Given the description of an element on the screen output the (x, y) to click on. 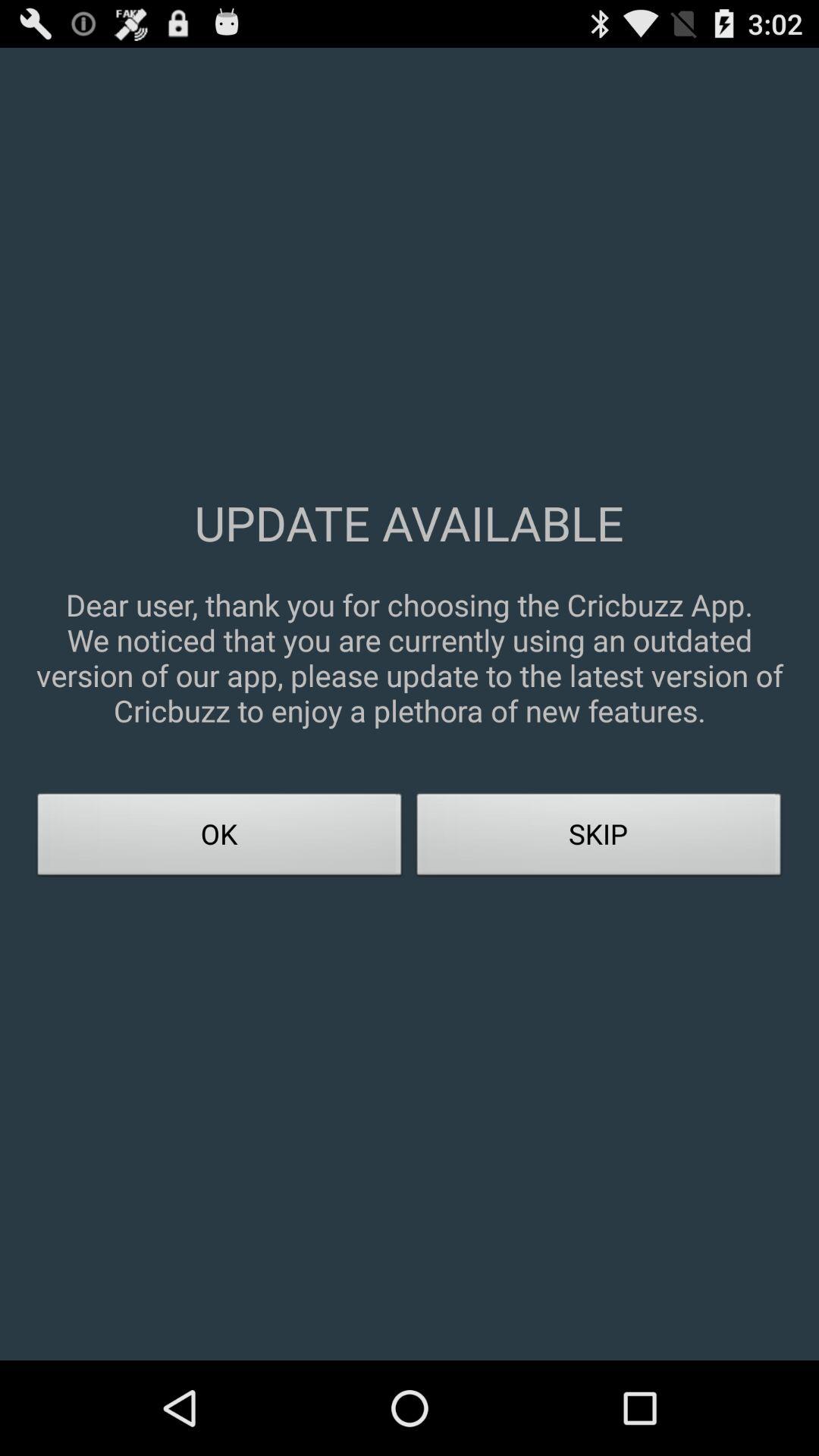
press item below the dear user thank (598, 838)
